Given the description of an element on the screen output the (x, y) to click on. 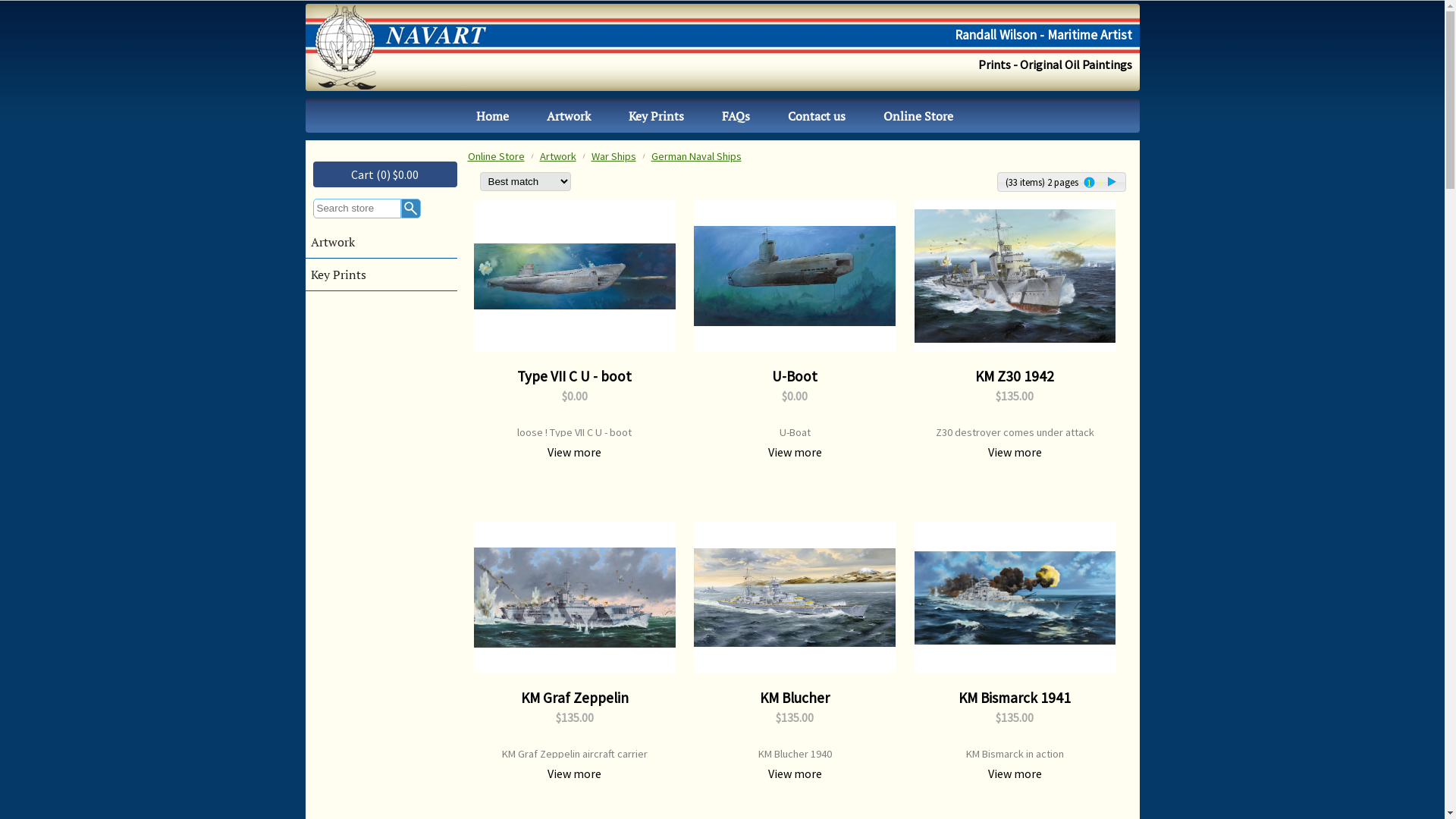
2 Element type: text (1100, 181)
U-Boot Element type: hover (794, 275)
Artwork Element type: text (380, 241)
Online Store Element type: text (495, 156)
Online Store Element type: text (918, 115)
1 Element type: text (1088, 181)
KM Blucher Element type: hover (794, 597)
Cart (0) $0.00 Element type: text (384, 174)
KM Graf Zeppelin Element type: hover (574, 597)
Home Element type: text (491, 115)
War Ships Element type: text (613, 156)
View more Element type: text (1014, 773)
German Naval Ships Element type: text (695, 156)
Contact us Element type: text (816, 115)
FAQs Element type: text (735, 115)
KM Z30 1942 Element type: hover (1015, 275)
KM Bismarck 1941 Element type: hover (1015, 597)
Type VII C U - boot Element type: hover (574, 275)
View more Element type: text (1014, 451)
View more Element type: text (574, 451)
Artwork Element type: text (557, 156)
View more Element type: text (574, 773)
View more Element type: text (794, 773)
Key Prints Element type: text (380, 274)
Key Prints Element type: text (655, 115)
Artwork Element type: text (568, 115)
View more Element type: text (794, 451)
